Given the description of an element on the screen output the (x, y) to click on. 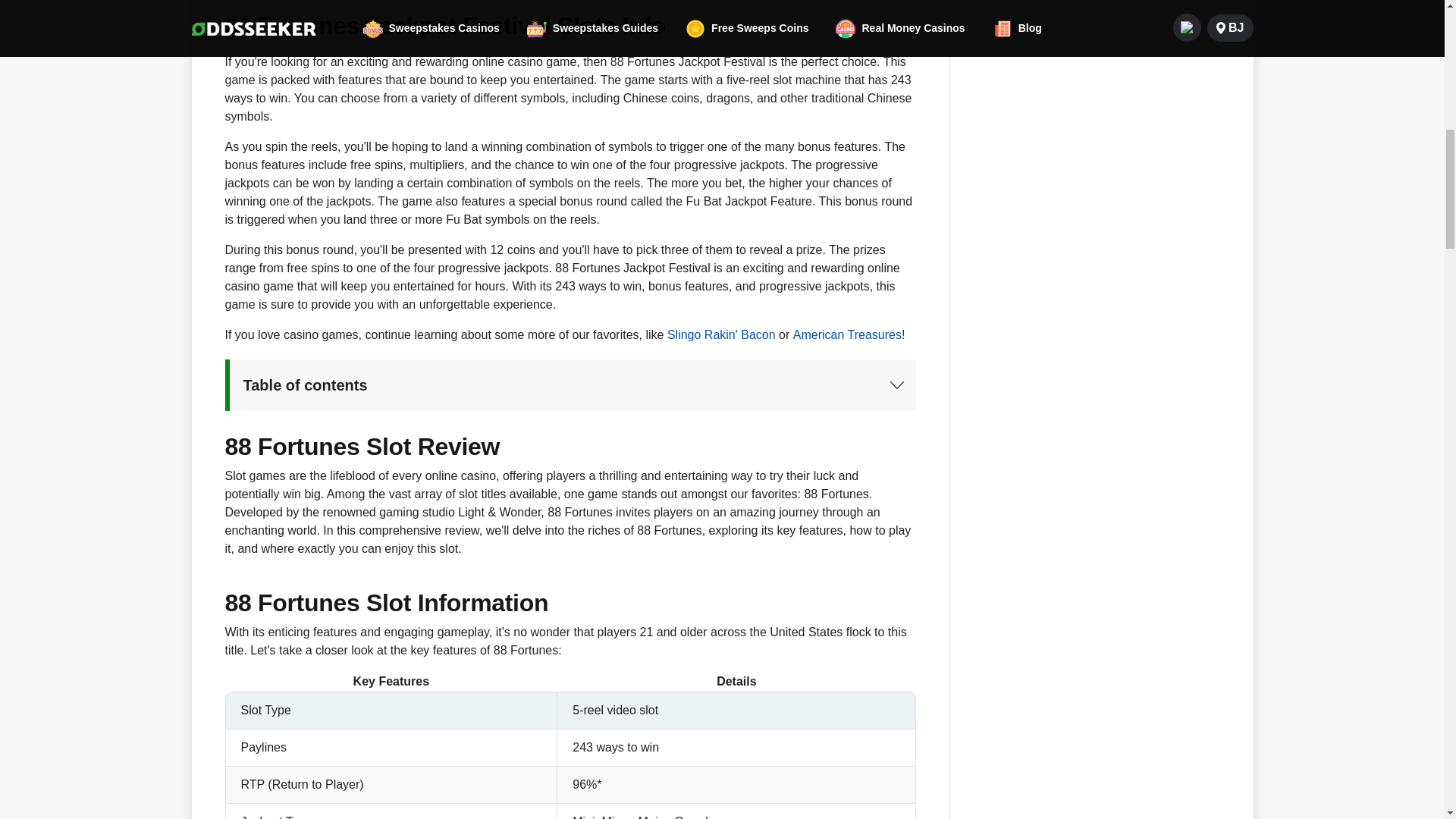
Table of contents (569, 385)
American Treasures (847, 334)
Slingo Rakin' Bacon (721, 334)
